Given the description of an element on the screen output the (x, y) to click on. 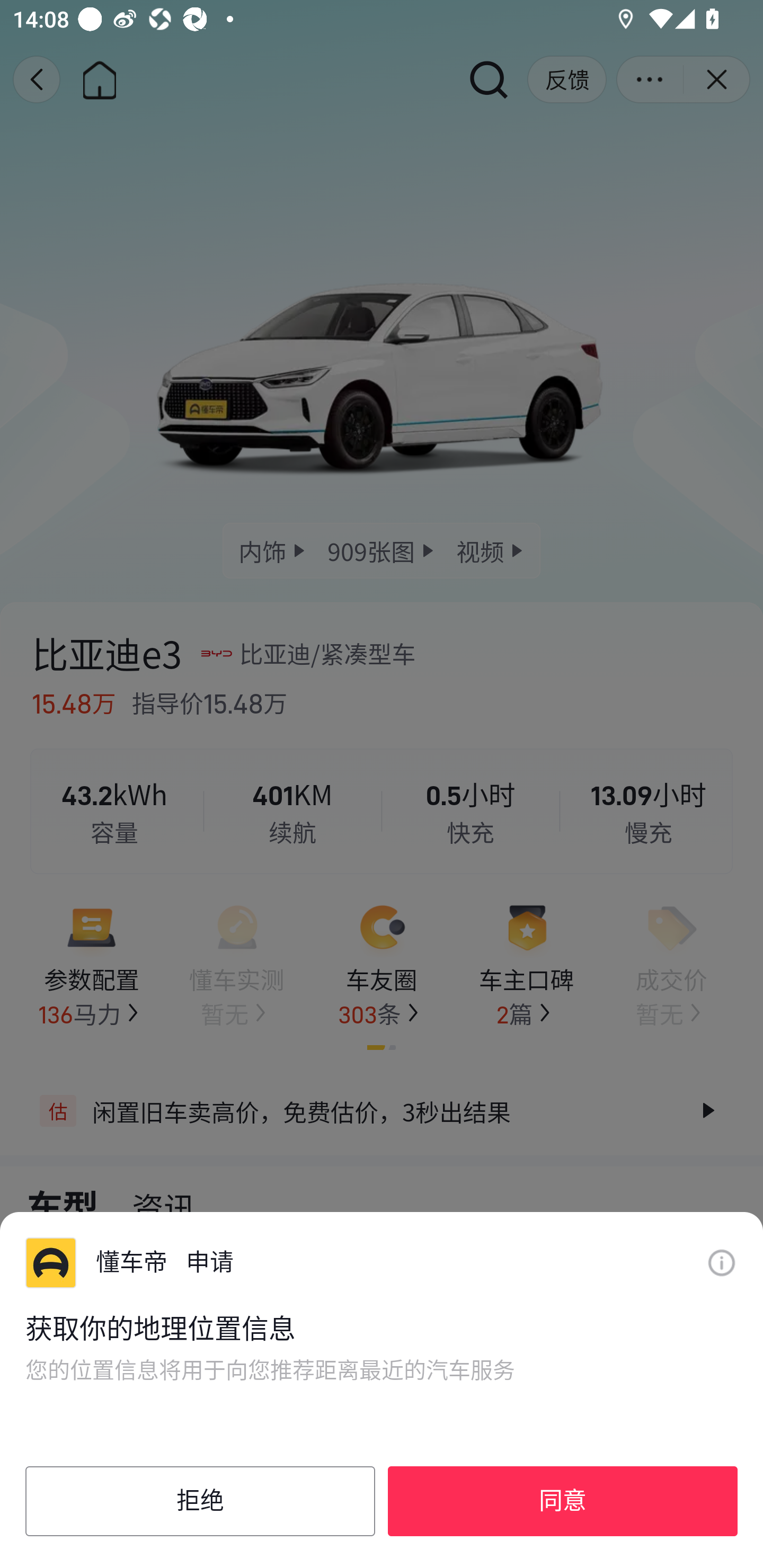
拒绝 (200, 1501)
同意 (562, 1501)
